Given the description of an element on the screen output the (x, y) to click on. 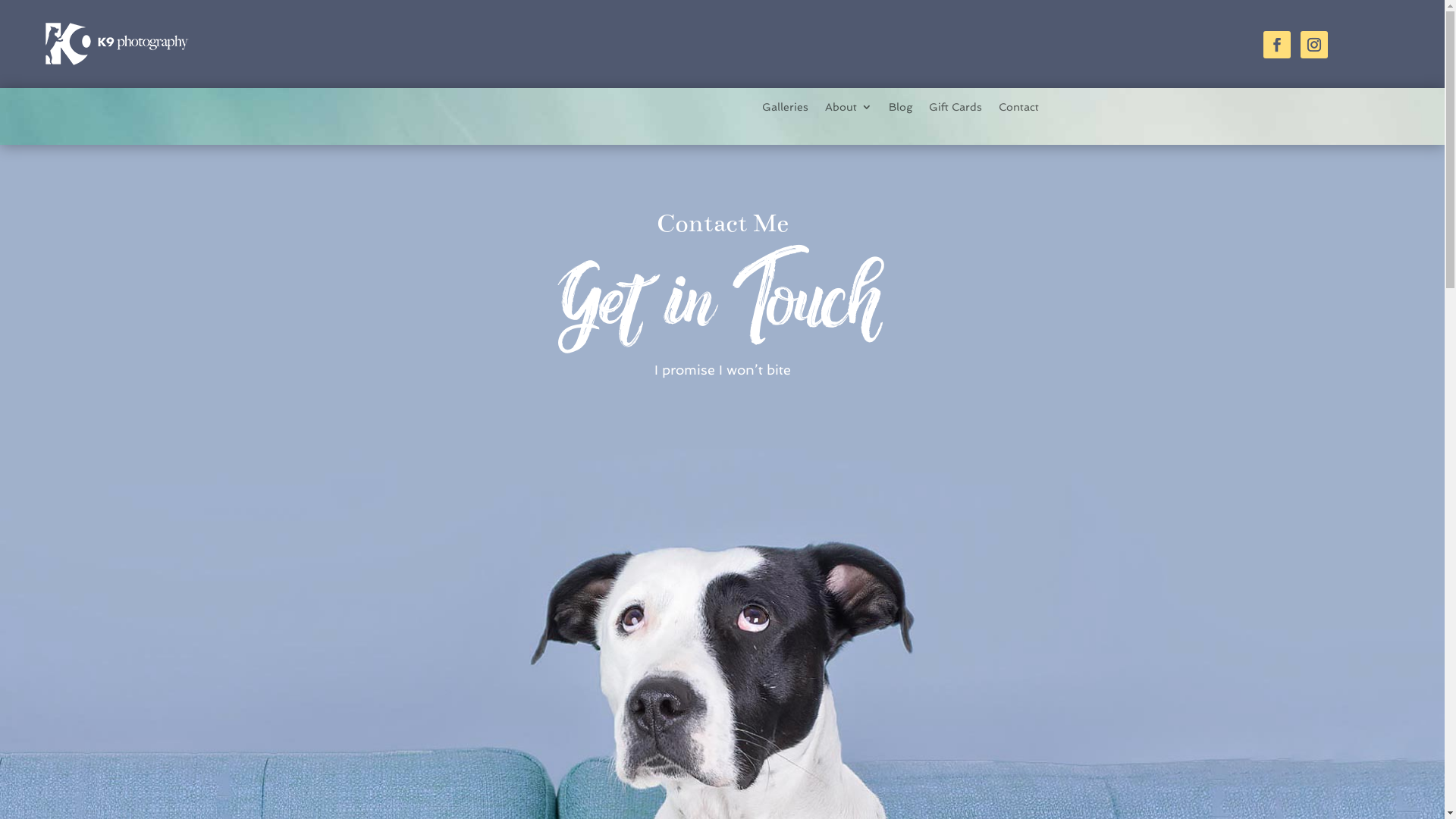
Contact Element type: text (1018, 109)
Follow on Instagram Element type: hover (1313, 44)
Blog Element type: text (900, 109)
Follow on Facebook Element type: hover (1276, 44)
Gift Cards Element type: text (955, 109)
About Element type: text (848, 109)
Galleries Element type: text (785, 109)
